Given the description of an element on the screen output the (x, y) to click on. 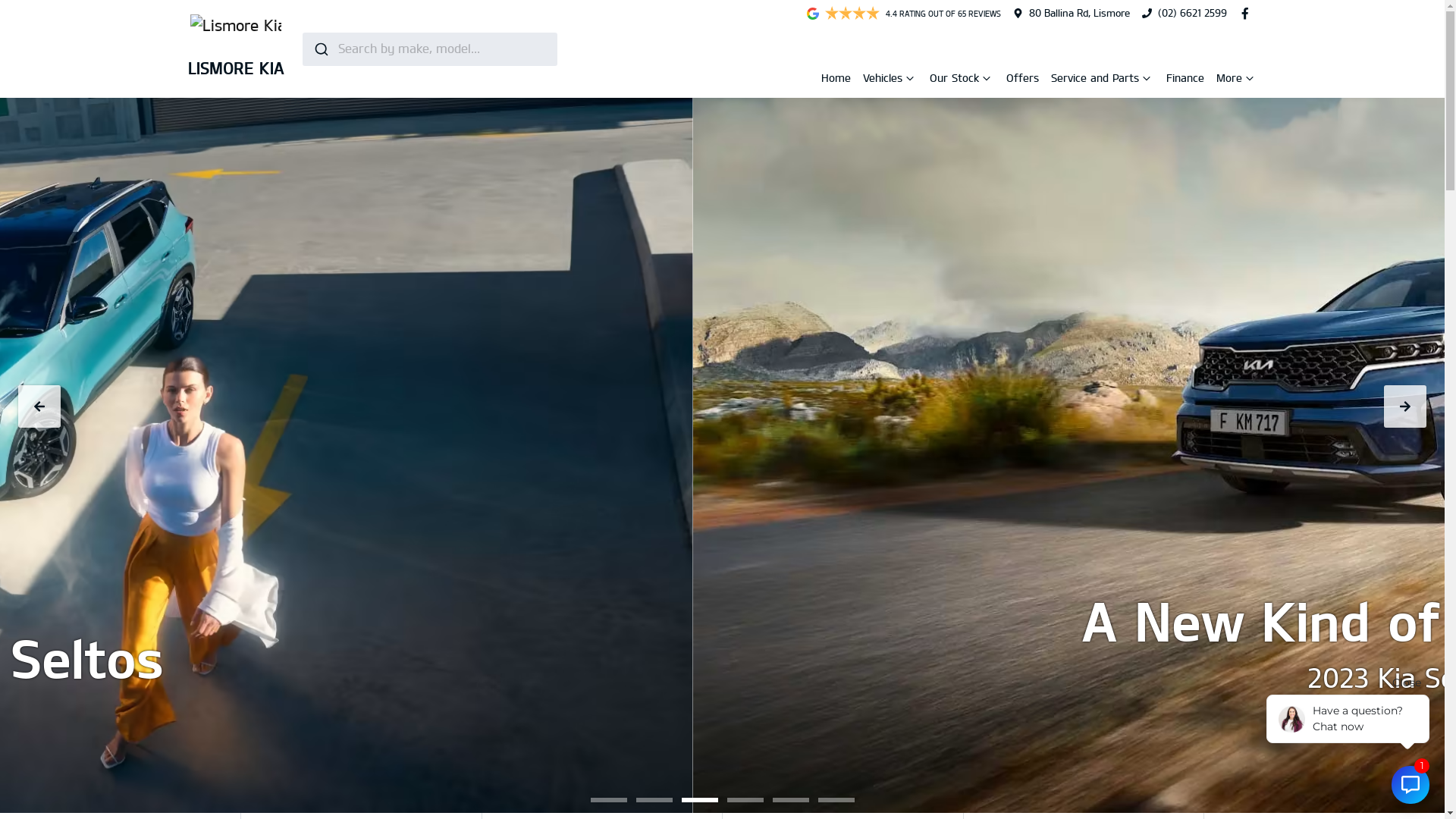
Vehicles Element type: text (883, 80)
Our Stock Element type: text (955, 80)
Submit Element type: hover (319, 48)
Finance Element type: text (1185, 77)
Home Element type: text (835, 77)
Offers Element type: text (1021, 77)
Service and Parts Element type: text (1096, 80)
80 Ballina Rd, Lismore Element type: text (1079, 12)
LISMORE KIA Element type: text (236, 48)
(02) 6621 2599 Element type: text (1191, 12)
More Element type: text (1230, 80)
